Given the description of an element on the screen output the (x, y) to click on. 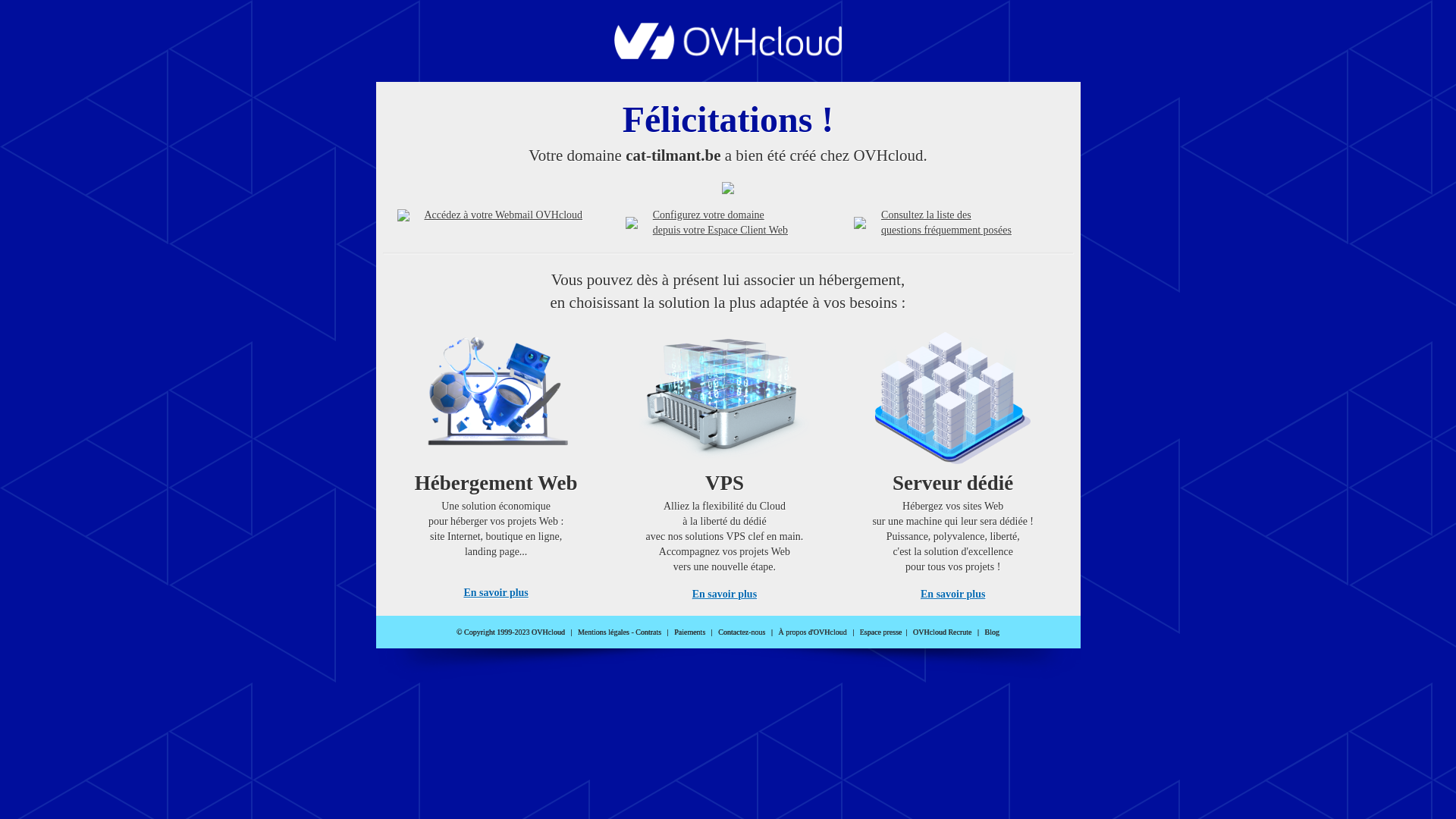
OVHcloud Recrute Element type: text (942, 631)
OVHcloud Element type: hover (727, 54)
Espace presse Element type: text (880, 631)
En savoir plus Element type: text (952, 593)
En savoir plus Element type: text (724, 593)
VPS Element type: hover (724, 460)
En savoir plus Element type: text (495, 592)
Contactez-nous Element type: text (741, 631)
Blog Element type: text (992, 631)
Paiements Element type: text (689, 631)
Configurez votre domaine
depuis votre Espace Client Web Element type: text (719, 222)
